Given the description of an element on the screen output the (x, y) to click on. 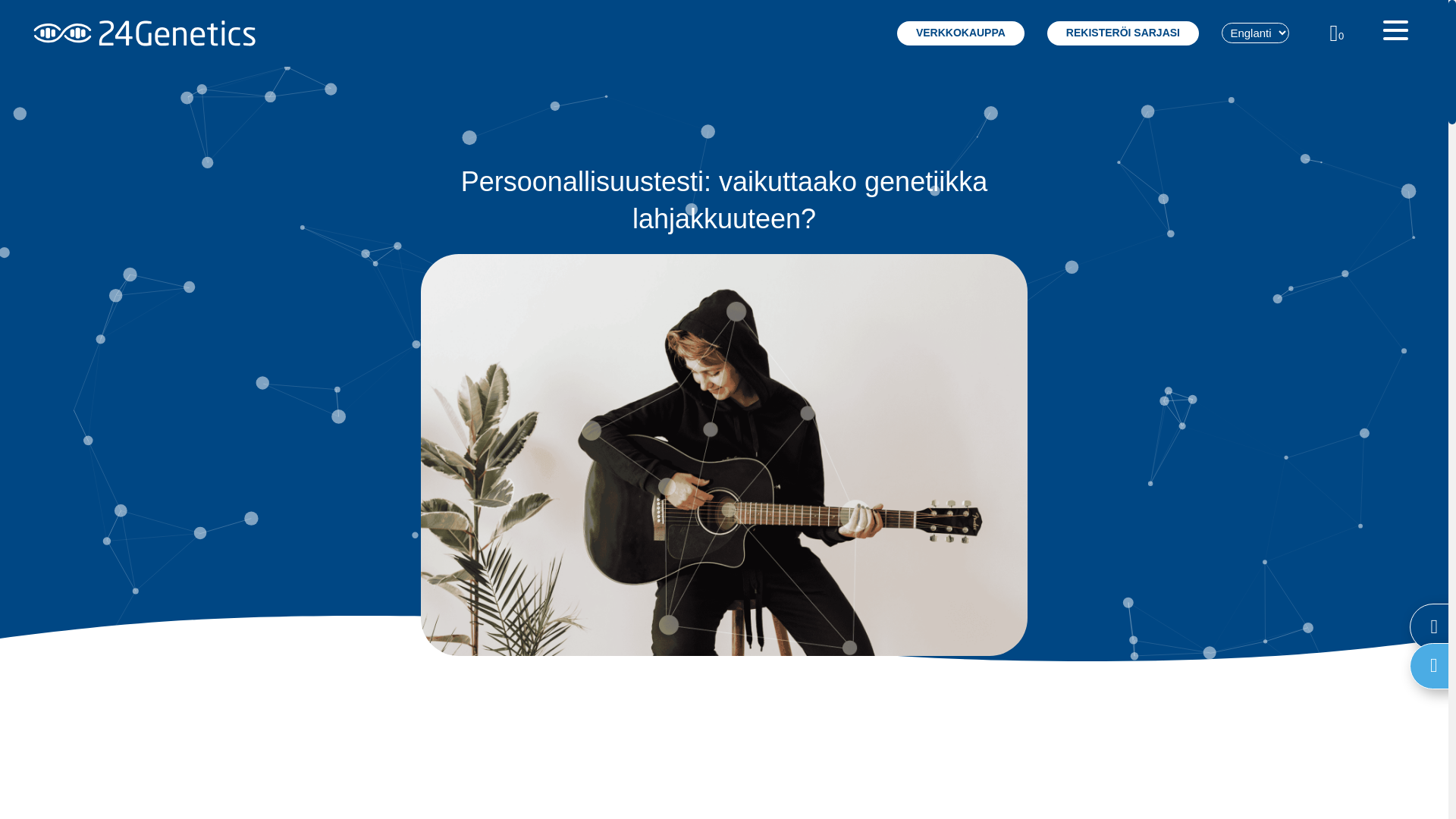
Captura de Pantalla 2022-09-15 a la(s) 15.58.24 Element type: hover (723, 454)
VERKKOKAUPPA Element type: text (960, 33)
